Given the description of an element on the screen output the (x, y) to click on. 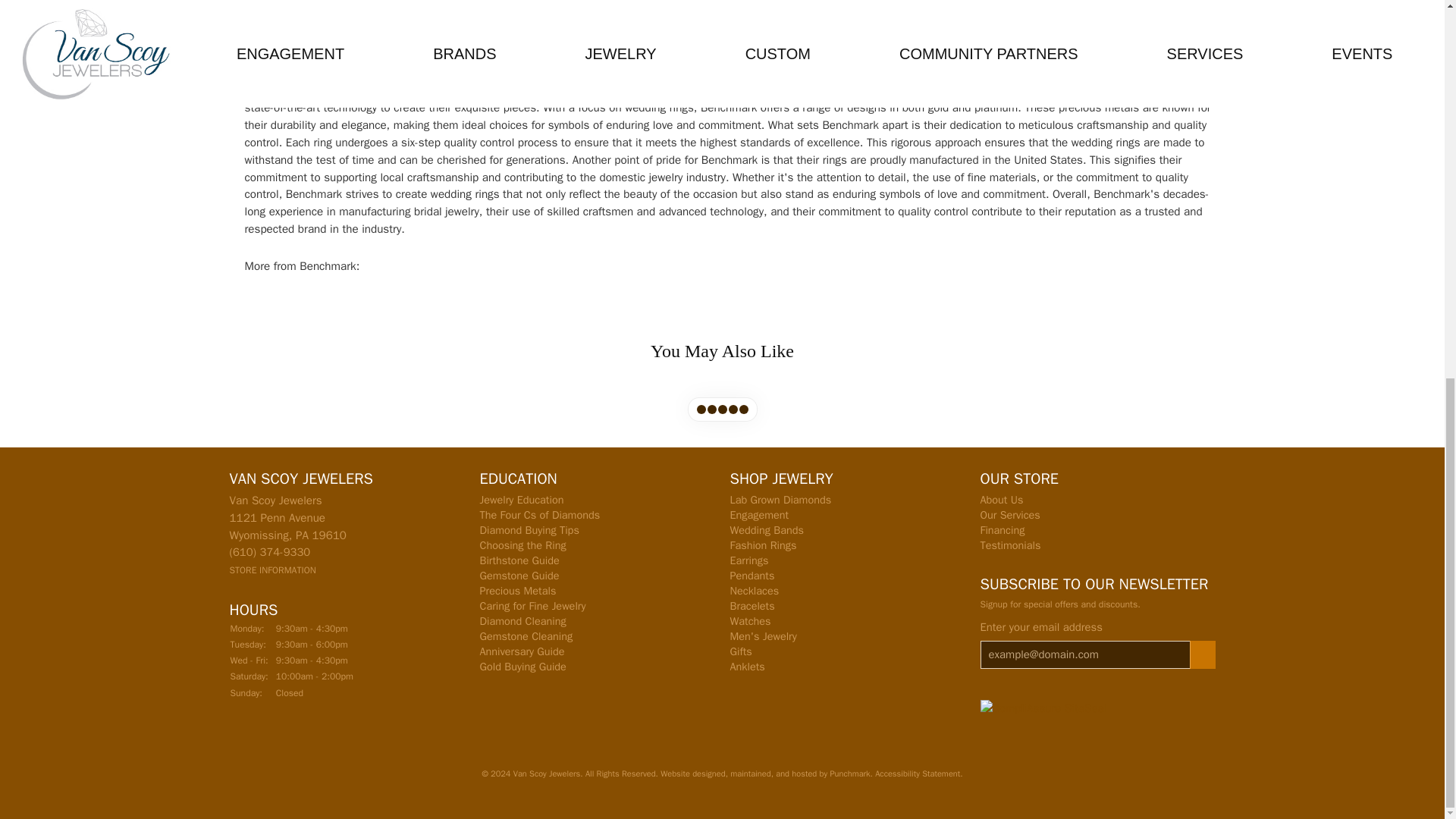
Enter your email address to subscribe (1084, 654)
